Given the description of an element on the screen output the (x, y) to click on. 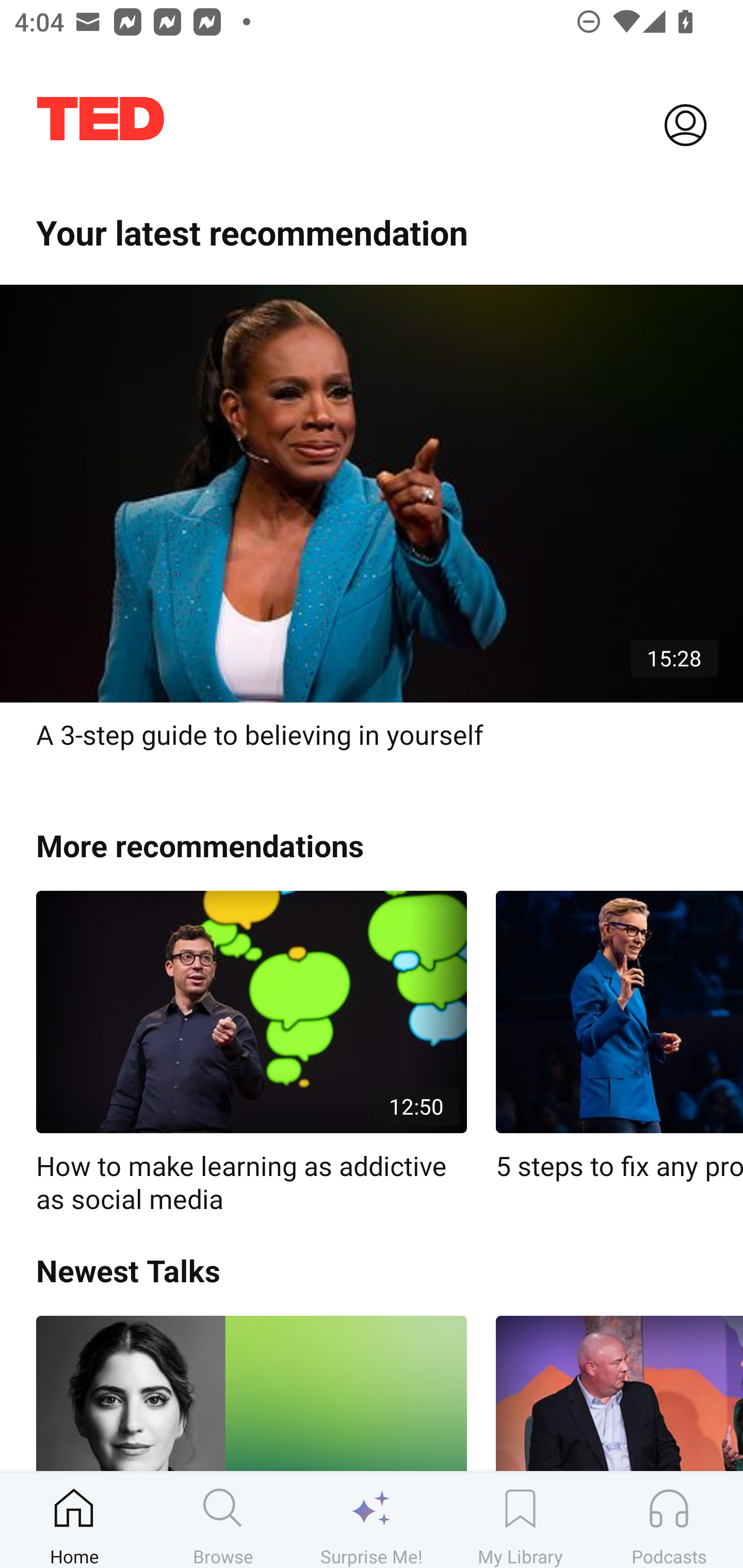
5 steps to fix any problem at work (619, 1036)
Home (74, 1520)
Browse (222, 1520)
Surprise Me! (371, 1520)
My Library (519, 1520)
Podcasts (668, 1520)
